Given the description of an element on the screen output the (x, y) to click on. 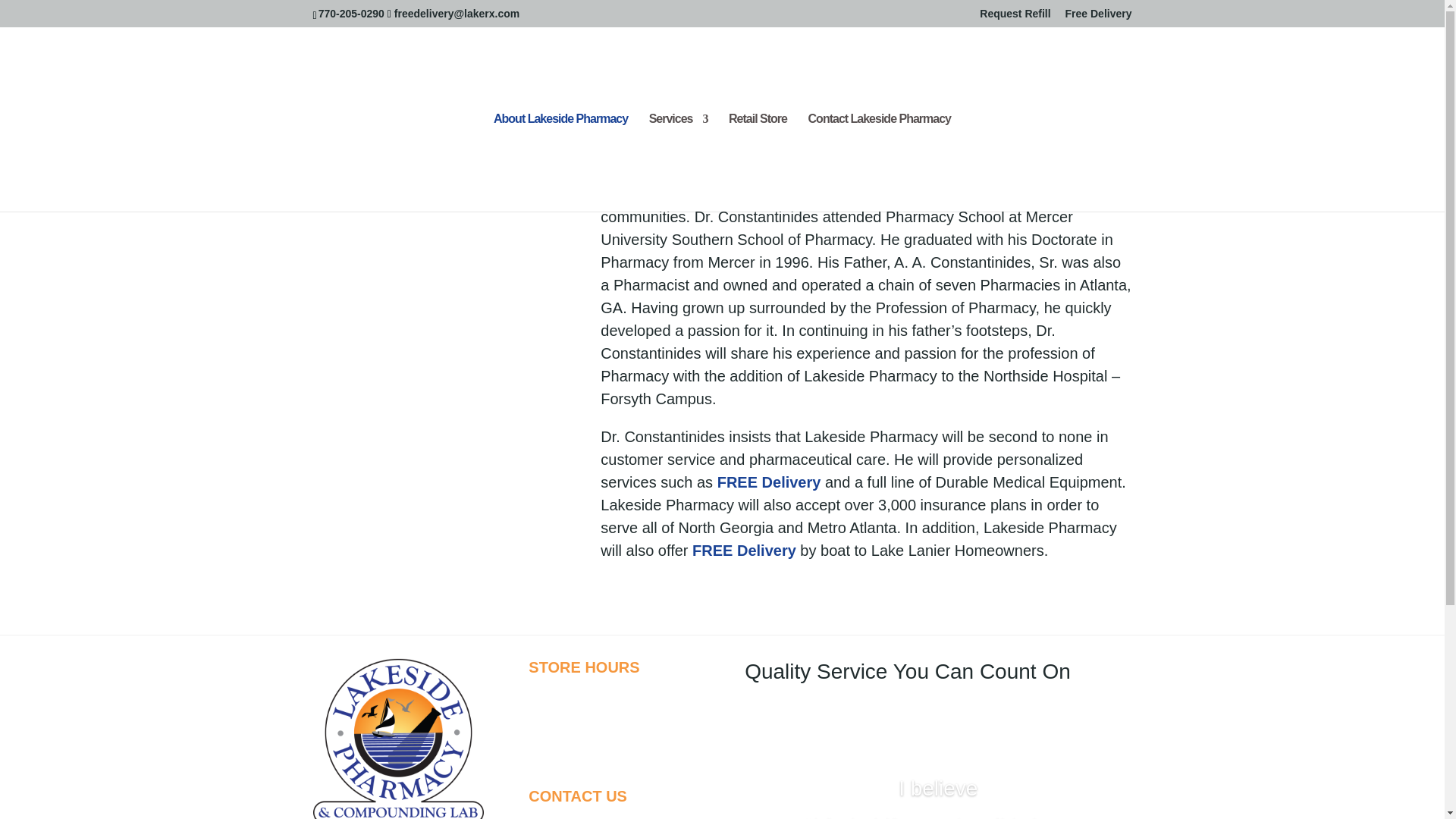
FREE Delivery (744, 550)
I believe (937, 788)
Request Refill (1014, 16)
Free Delivery (1098, 16)
FREE Delivery (769, 482)
Contact Lakeside Pharmacy (879, 162)
About Lakeside Pharmacy (560, 162)
